Given the description of an element on the screen output the (x, y) to click on. 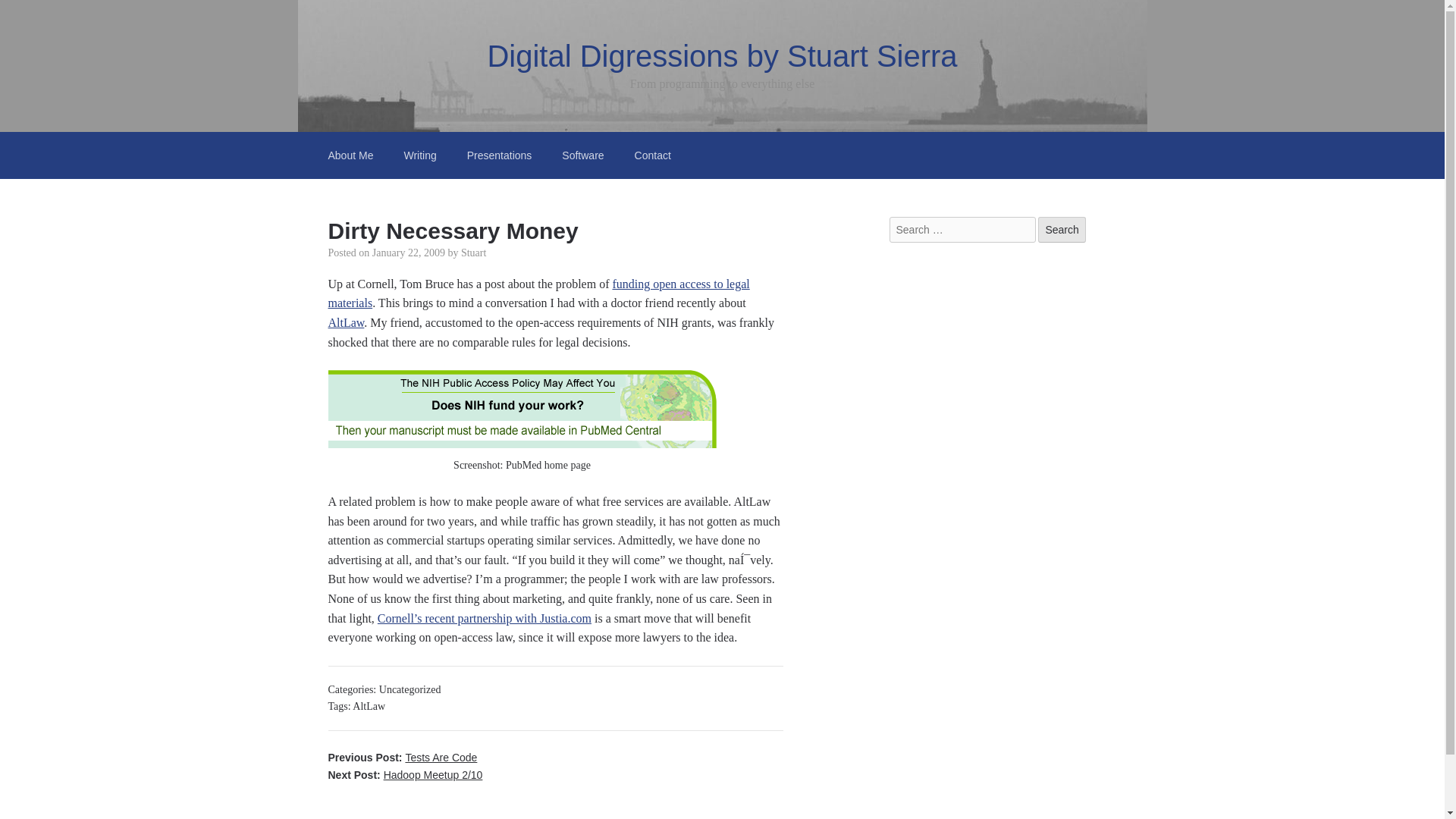
Writing (419, 155)
Presentations (499, 155)
Stuart (473, 252)
Previous Post: Tests Are Code (402, 757)
Digital Digressions by Stuart Sierra (721, 55)
Uncategorized (409, 689)
Search (1061, 229)
January 22, 2009 (408, 252)
AltLaw (368, 706)
Search (1061, 229)
